Given the description of an element on the screen output the (x, y) to click on. 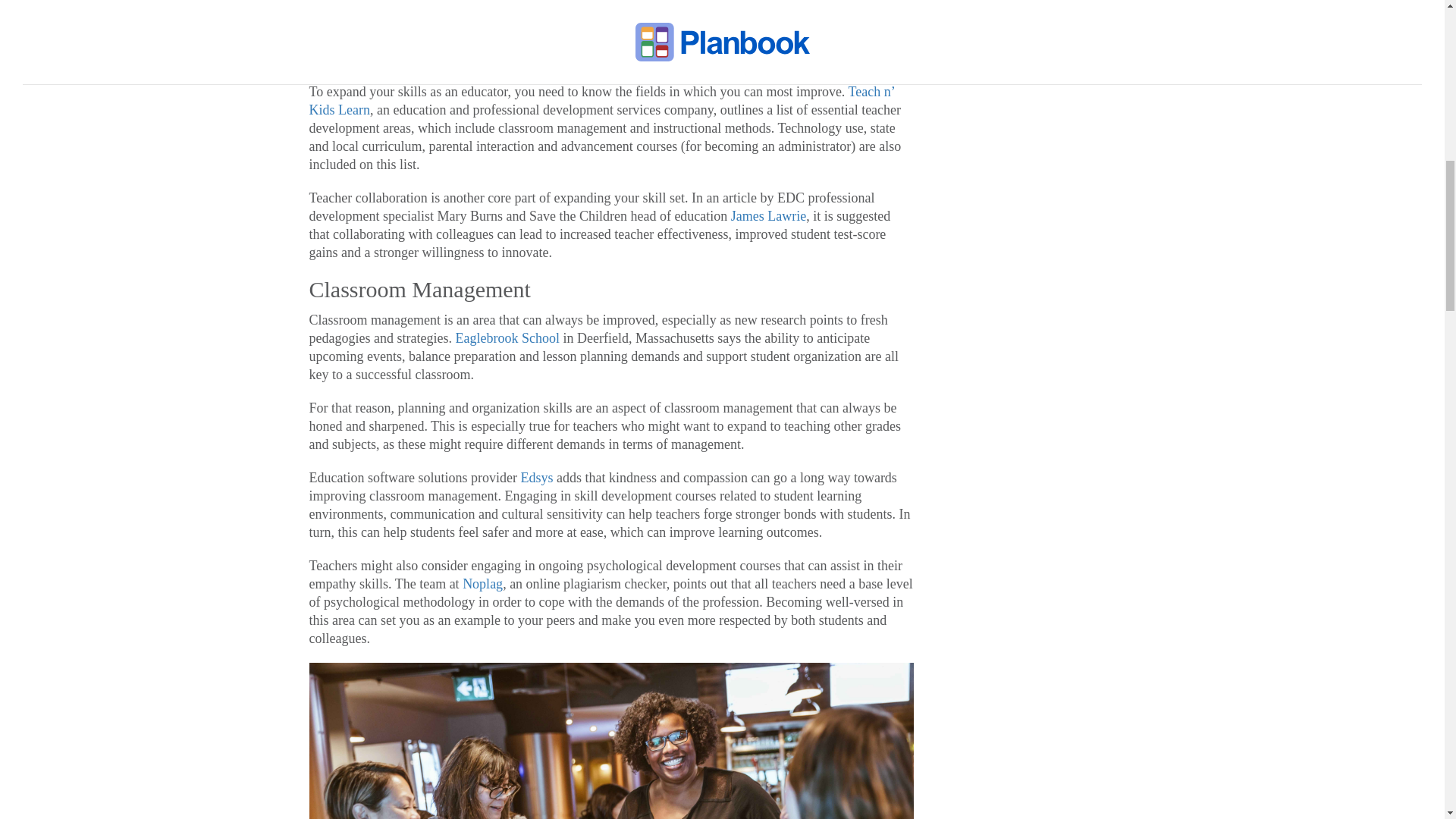
Edsys (536, 477)
James Lawrie (768, 215)
Eaglebrook School (506, 337)
Gregory Leap (441, 39)
Noplag (482, 583)
